Given the description of an element on the screen output the (x, y) to click on. 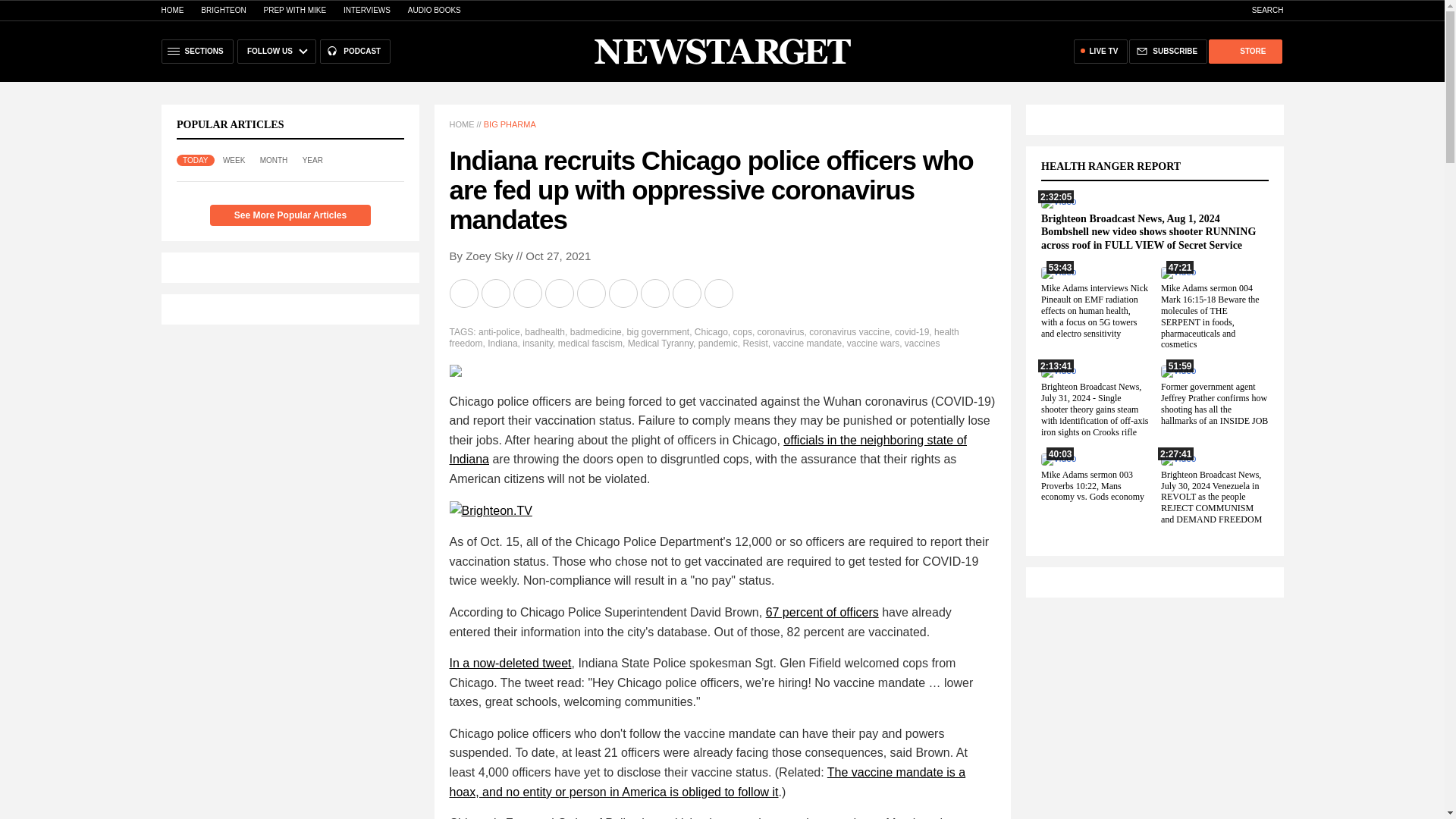
Share on Twitter (528, 293)
anti-police (499, 331)
SUBSCRIBE (1168, 51)
PODCAST (355, 51)
Share on Gettr (687, 293)
More Share Options (719, 293)
Share on Brighteon.Social (464, 293)
Share on Truth.Social (655, 293)
Share on Parler (624, 293)
47:21 (1177, 271)
SEARCH (1260, 9)
HOME (171, 9)
